Given the description of an element on the screen output the (x, y) to click on. 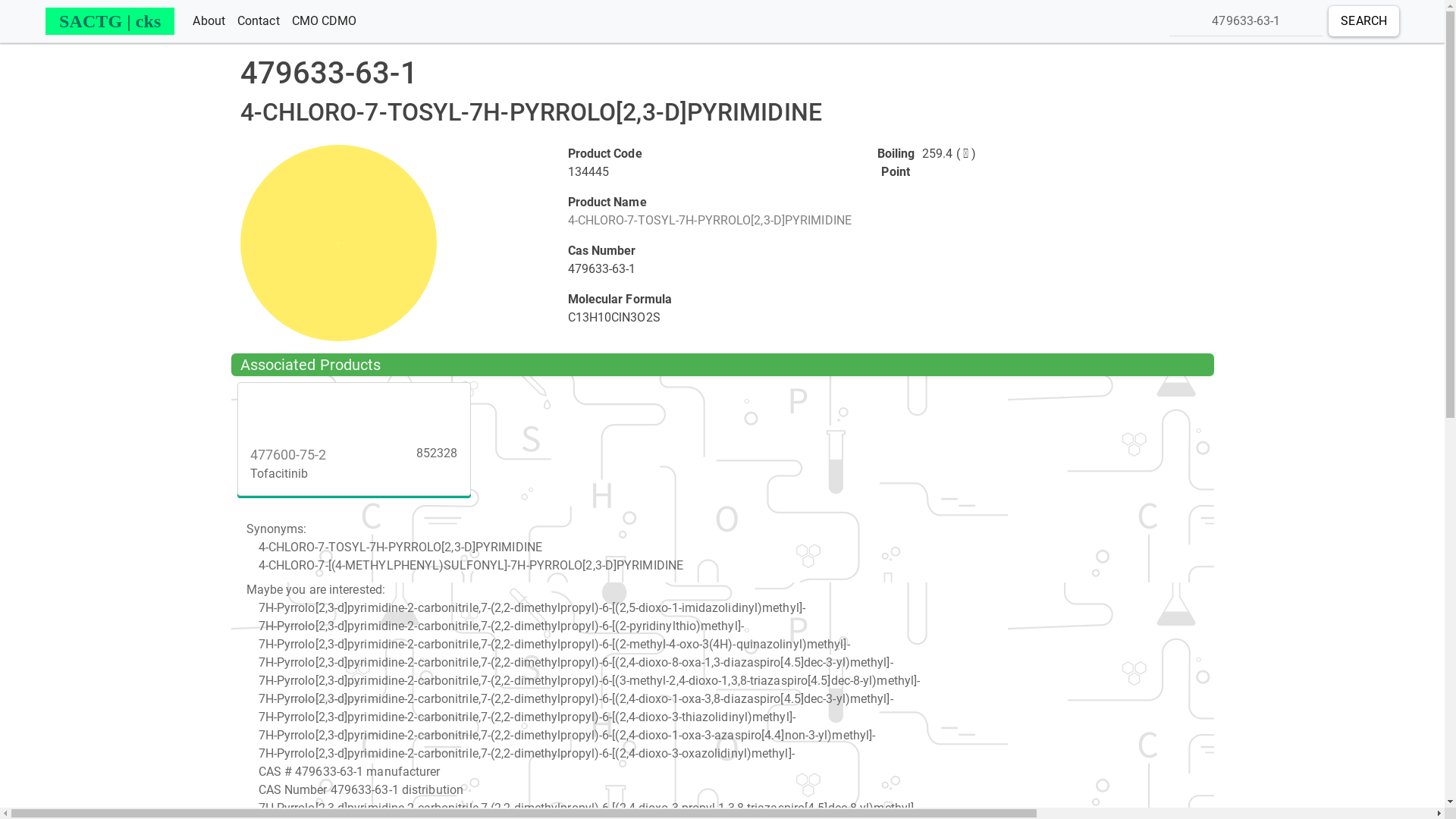
Contact Element type: text (258, 21)
About Element type: text (208, 21)
SACTG | cks Element type: text (109, 20)
Search Element type: text (1363, 21)
CMO CDMO Element type: text (324, 21)
477600-75-2 Element type: hover (353, 407)
4-CHLORO-7-TOSYL-7H-PYRROLO[2,3-D]PYRIMIDINE Element type: text (708, 220)
477600-75-2 Element type: text (288, 454)
CAS No 479633-63-1  Molecular Structure Element type: hover (337, 242)
